Given the description of an element on the screen output the (x, y) to click on. 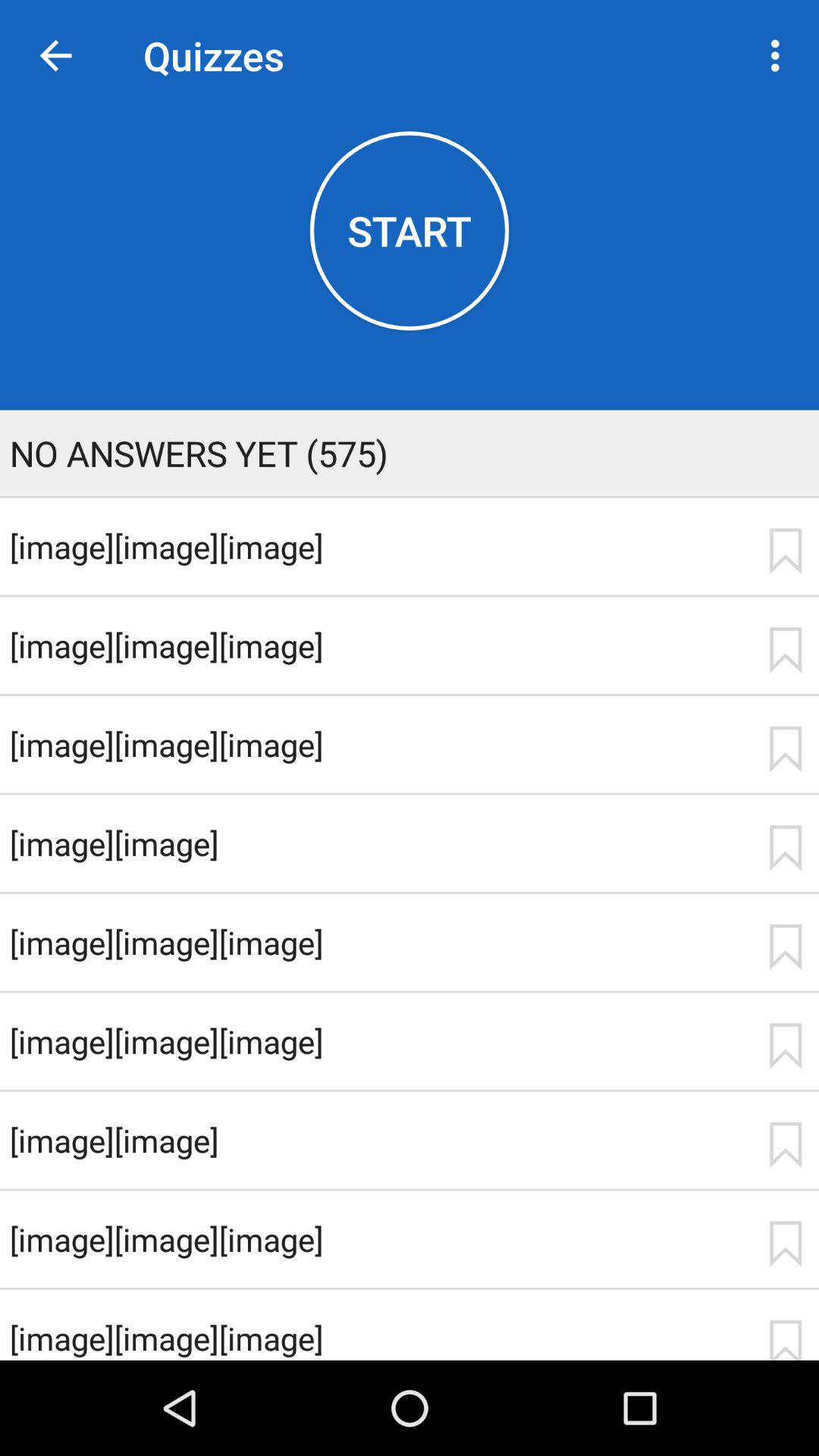
choose icon at the top right corner (779, 55)
